Given the description of an element on the screen output the (x, y) to click on. 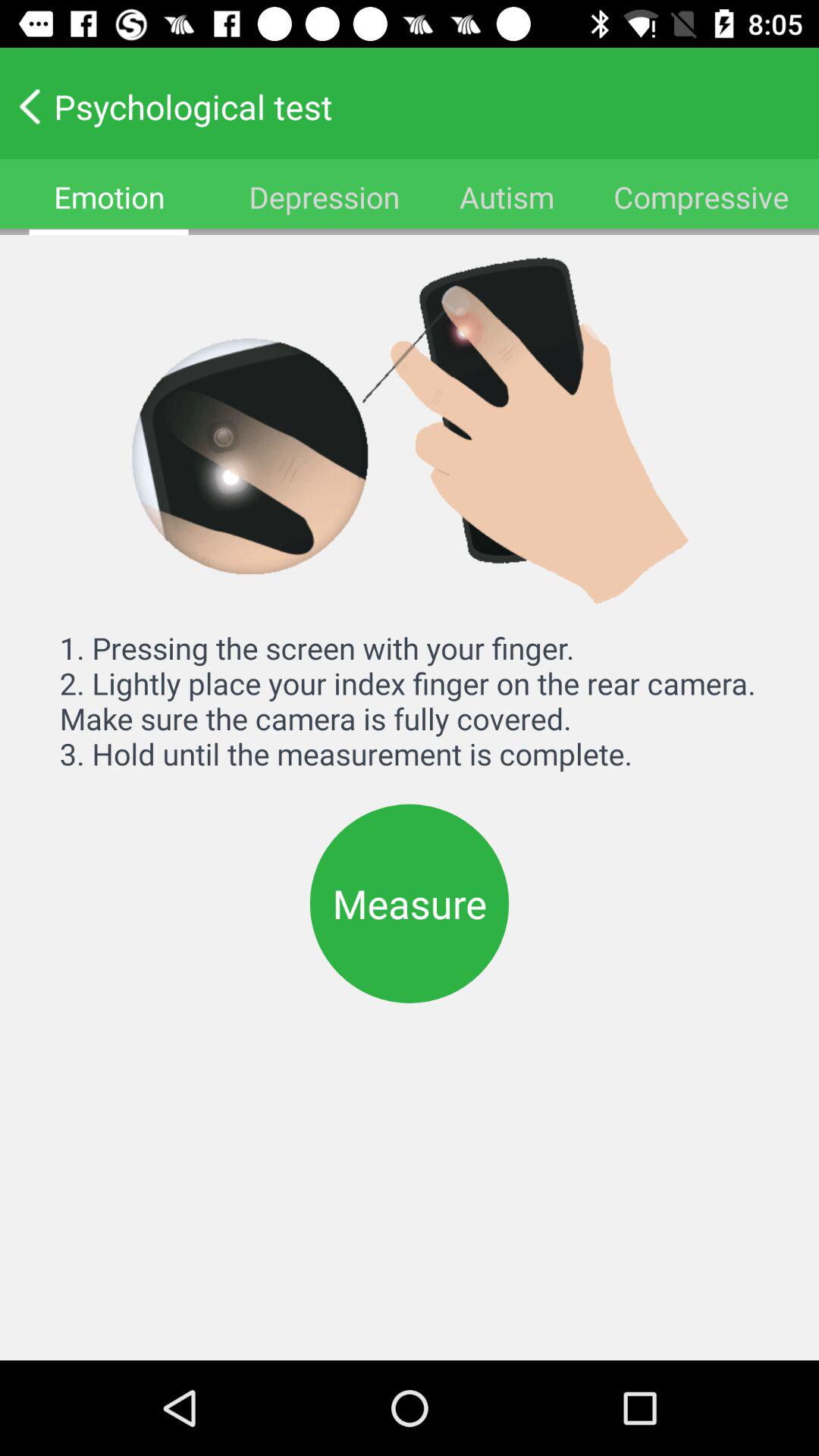
tap the icon at the top left corner (109, 196)
